Given the description of an element on the screen output the (x, y) to click on. 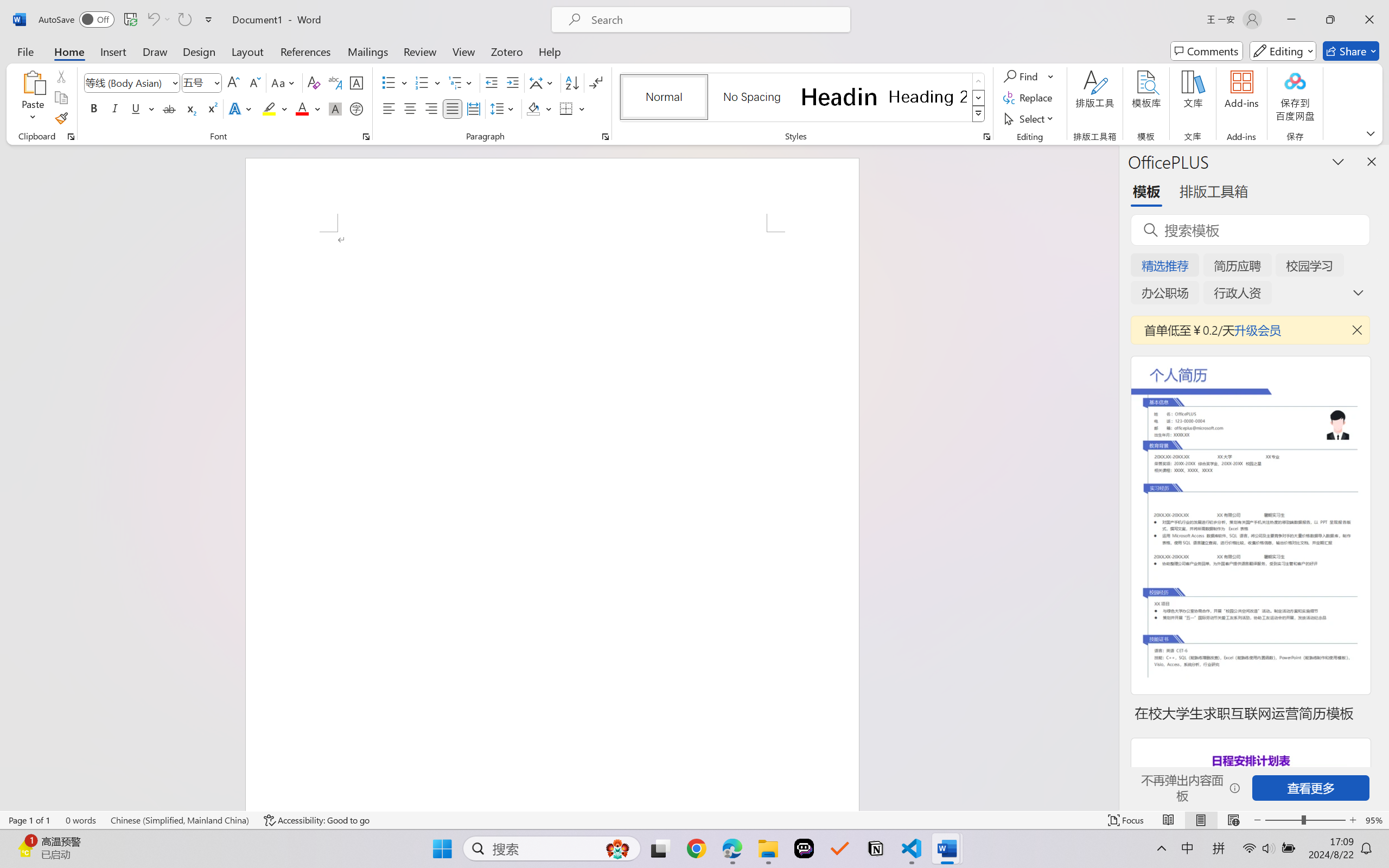
Class: NetUIScrollBar (1111, 477)
Language Chinese (Simplified, Mainland China) (179, 819)
